Given the description of an element on the screen output the (x, y) to click on. 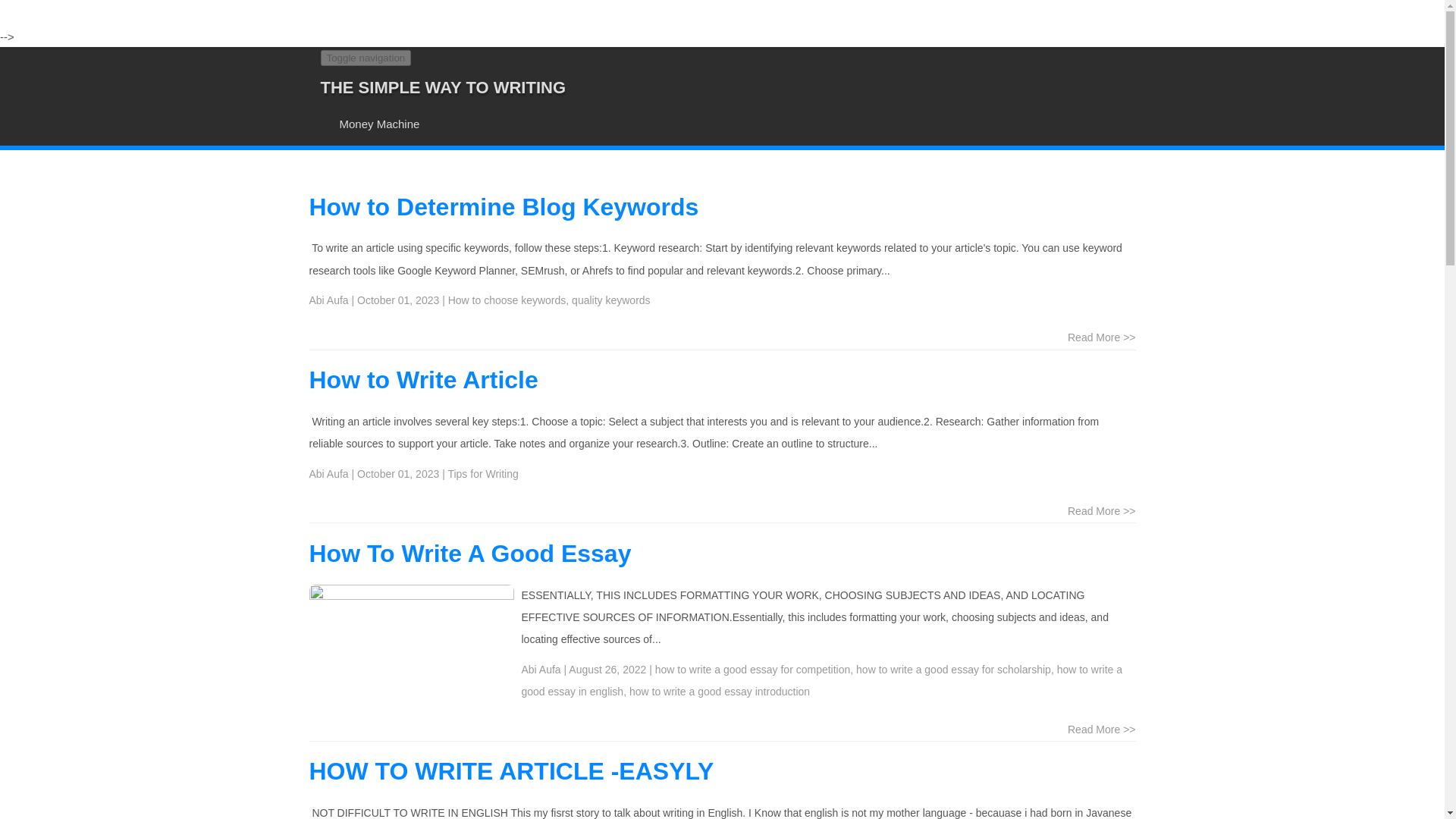
how to write a good essay in english (821, 680)
How to Determine Blog Keywords (503, 206)
Toggle navigation (365, 57)
HOW TO WRITE ARTICLE -EASYLY (511, 770)
how to write a good essay introduction (718, 691)
Tips for Writing (482, 473)
Abi Aufa (328, 300)
How to Write Article (423, 379)
How To Write A Good Essay (469, 553)
author profile (328, 300)
how to write a good essay for scholarship (953, 669)
THE SIMPLE WAY TO WRITING (443, 87)
how to write a good essay for competition (752, 669)
quality keywords (611, 300)
Abi Aufa (328, 473)
